Given the description of an element on the screen output the (x, y) to click on. 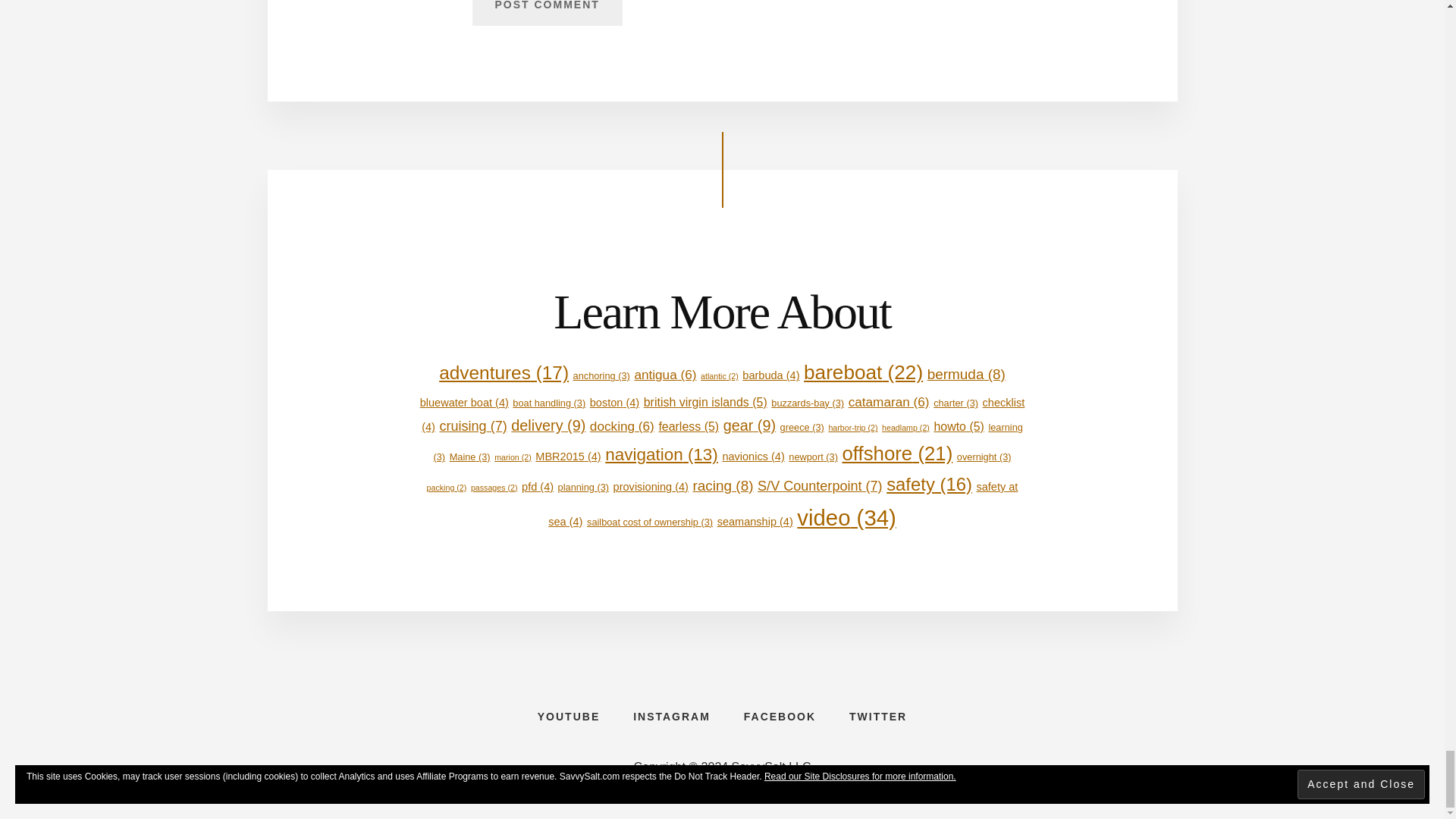
Post Comment (546, 12)
Post Comment (546, 12)
